Given the description of an element on the screen output the (x, y) to click on. 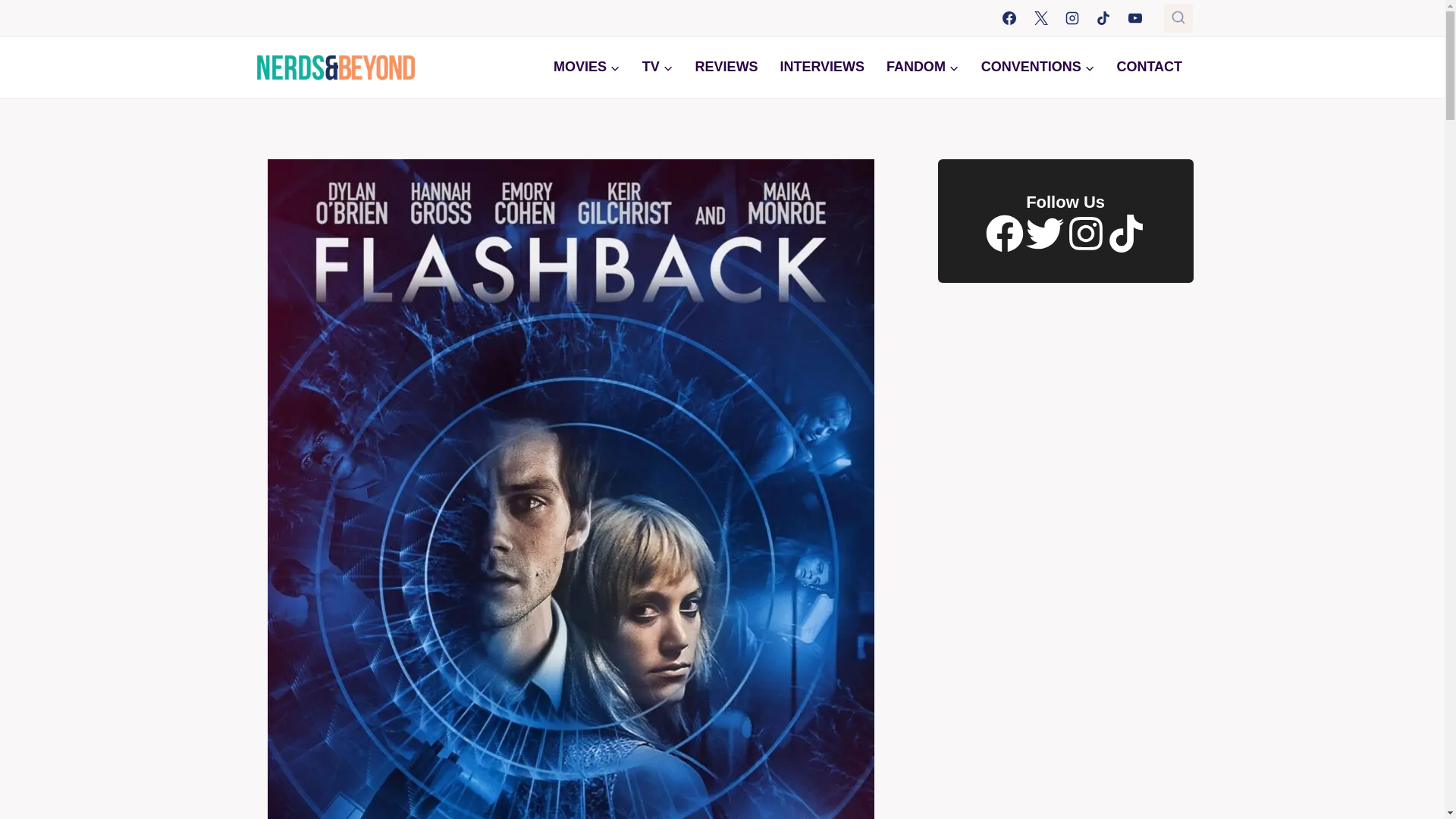
MOVIES (587, 66)
TV (657, 66)
